Given the description of an element on the screen output the (x, y) to click on. 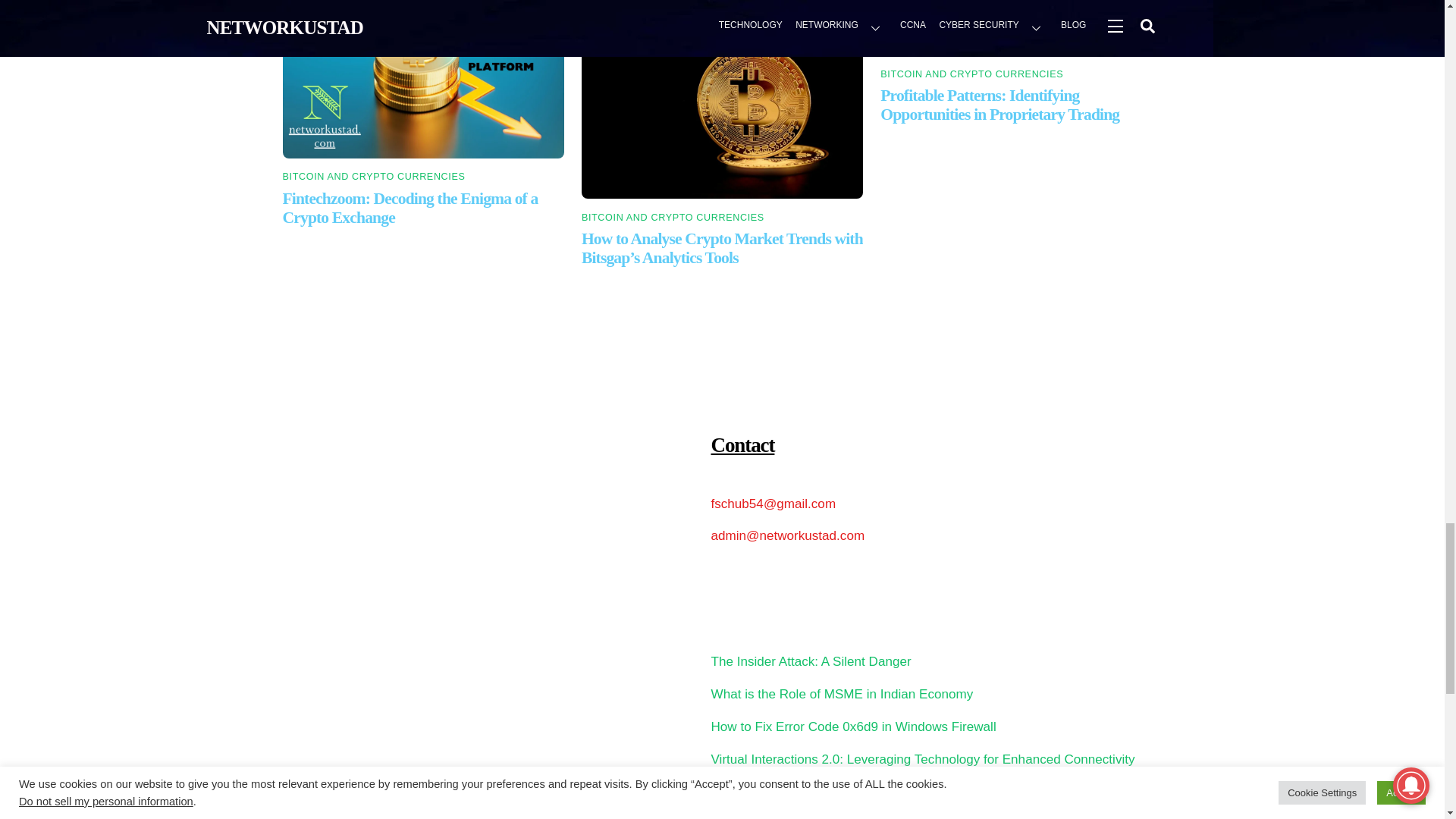
Fintechzoom: Decoding the Enigma of a Crypto Exchange (422, 84)
The Insider Attack: A Silent Danger (811, 661)
Fintechzoom: Decoding the Enigma of a Crypto Exchange (409, 207)
How to Fix Error Code 0x6d9 in Windows Firewall (853, 726)
BITCOIN AND CRYPTO CURRENCIES (373, 176)
BITCOIN AND CRYPTO CURRENCIES (971, 73)
BITCOIN AND CRYPTO CURRENCIES (672, 217)
What is the Role of MSME in Indian Economy (842, 694)
